Given the description of an element on the screen output the (x, y) to click on. 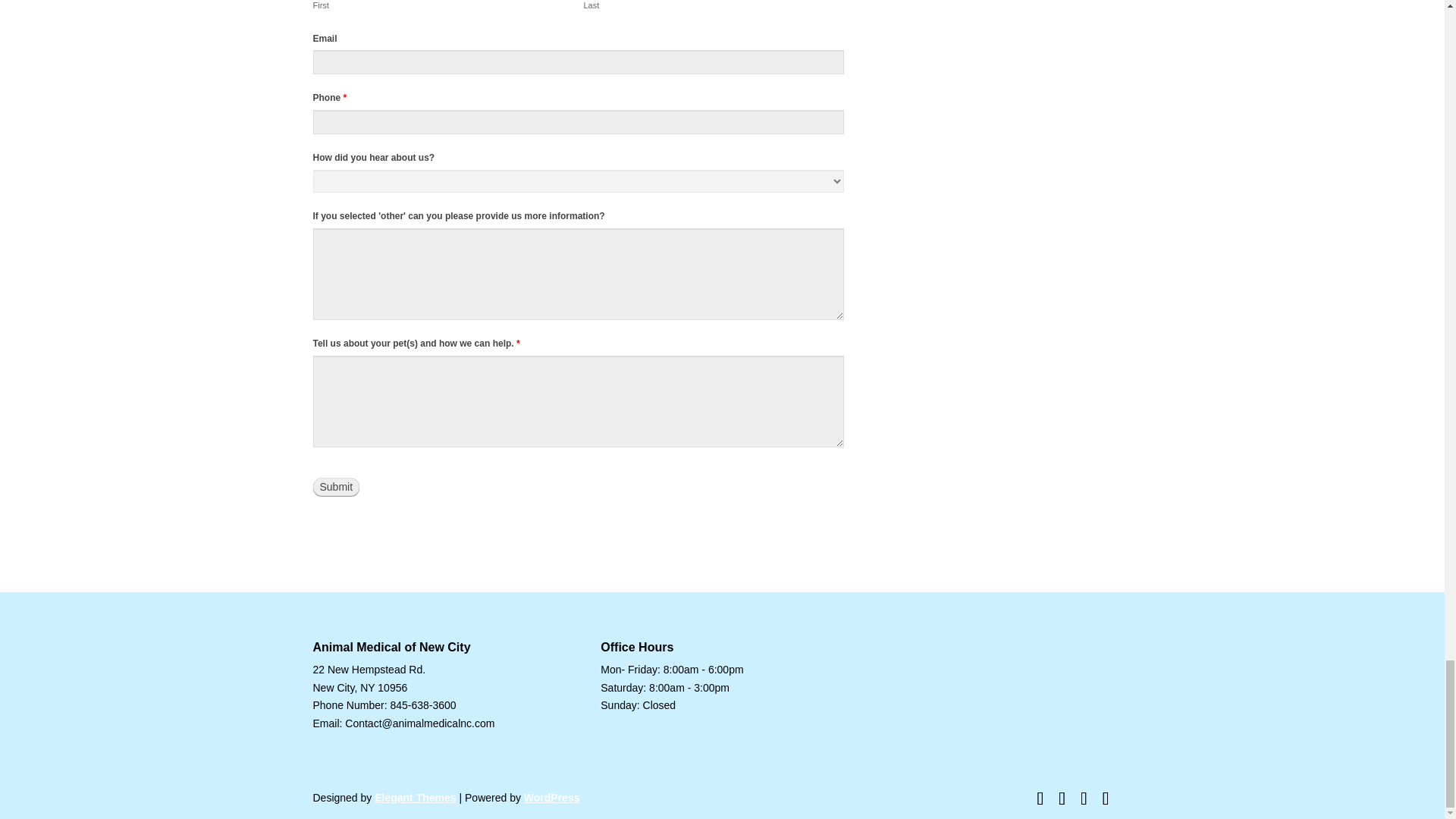
Premium WordPress Themes (414, 797)
